Given the description of an element on the screen output the (x, y) to click on. 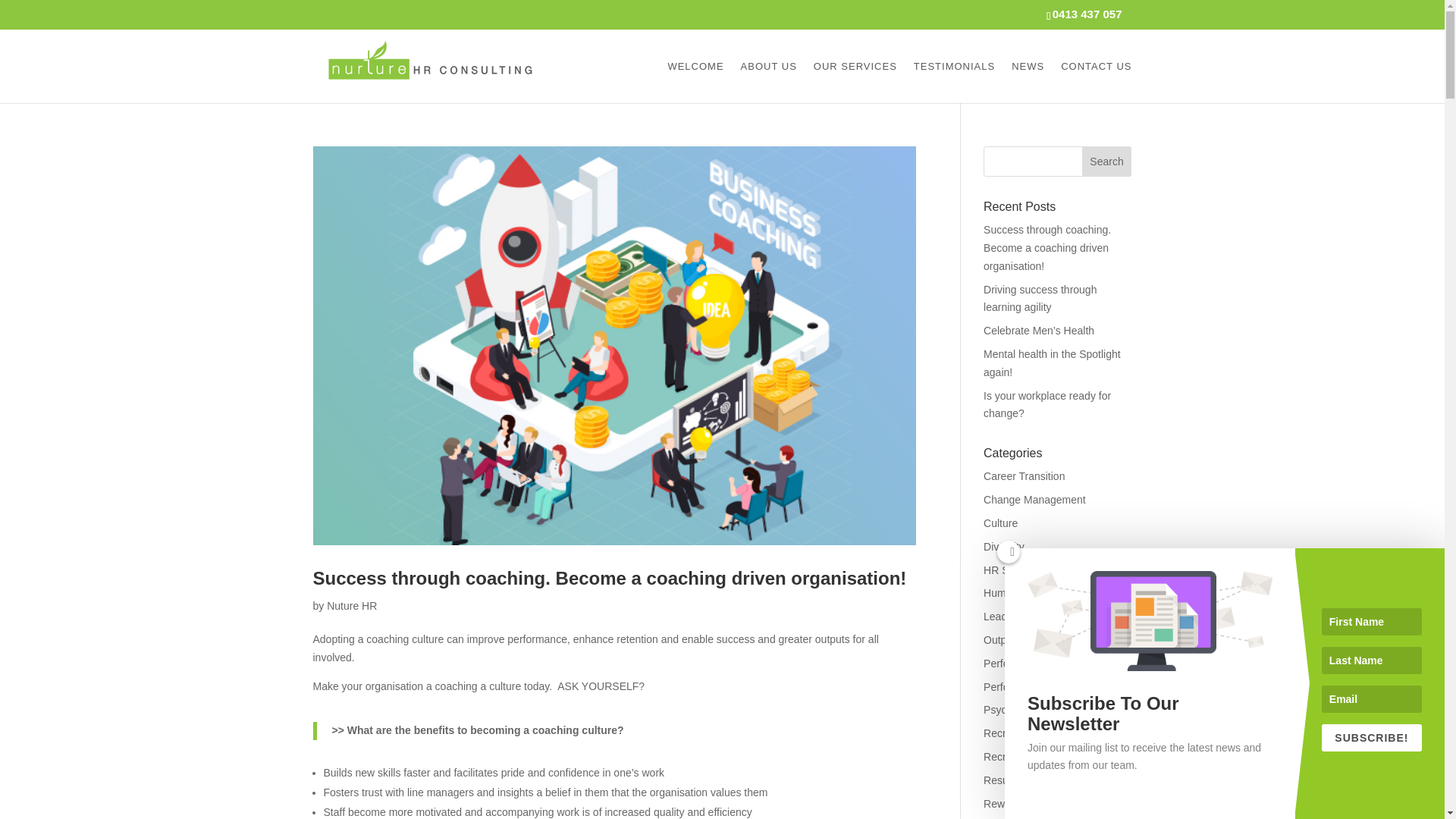
Search (1106, 161)
Change Management (1035, 499)
TESTIMONIALS (954, 81)
Culture (1000, 522)
NEWS (1027, 81)
Career Transition (1024, 476)
Driving success through learning agility (1040, 298)
Nuture HR (351, 605)
Mental health in the Spotlight again! (1052, 363)
HR Services Central Coast (1046, 570)
OUR SERVICES (854, 81)
Diversity (1004, 546)
WELCOME (694, 81)
